Given the description of an element on the screen output the (x, y) to click on. 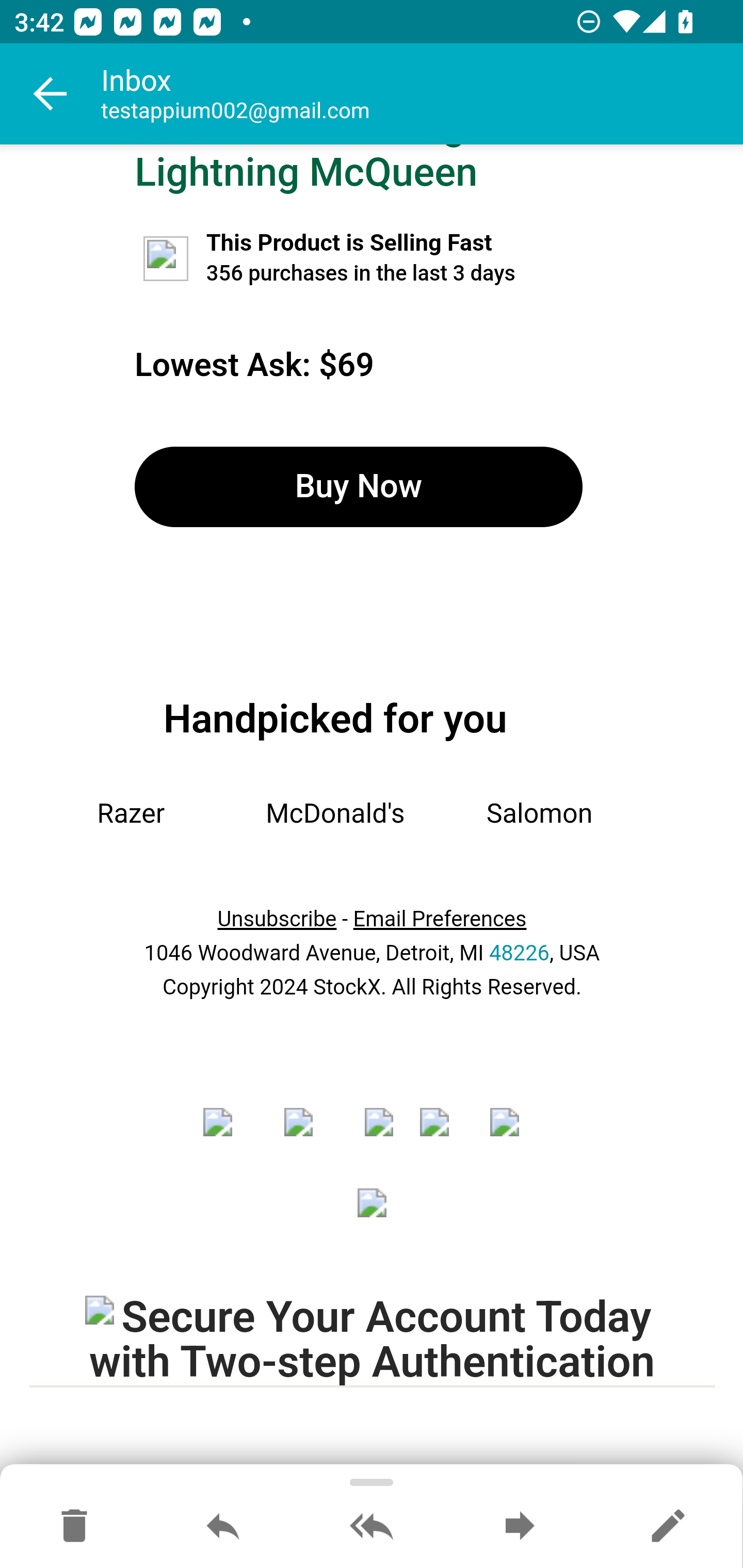
Navigate up (50, 93)
Inbox testappium002@gmail.com (422, 93)
Crocs Classic Clog Lightning McQueen (305, 170)
Buy Now (357, 487)
Handpicked for you (334, 718)
Unsubscribe (276, 919)
Email Preferences (439, 919)
48226 (518, 953)
facebook (229, 1135)
twitter (311, 1135)
instagram (378, 1135)
YouTube (441, 1135)
Discord (511, 1135)
App Store (372, 1215)
Move to Deleted (74, 1527)
Reply (222, 1527)
Reply all (371, 1527)
Forward (519, 1527)
Reply as new (667, 1527)
